Given the description of an element on the screen output the (x, y) to click on. 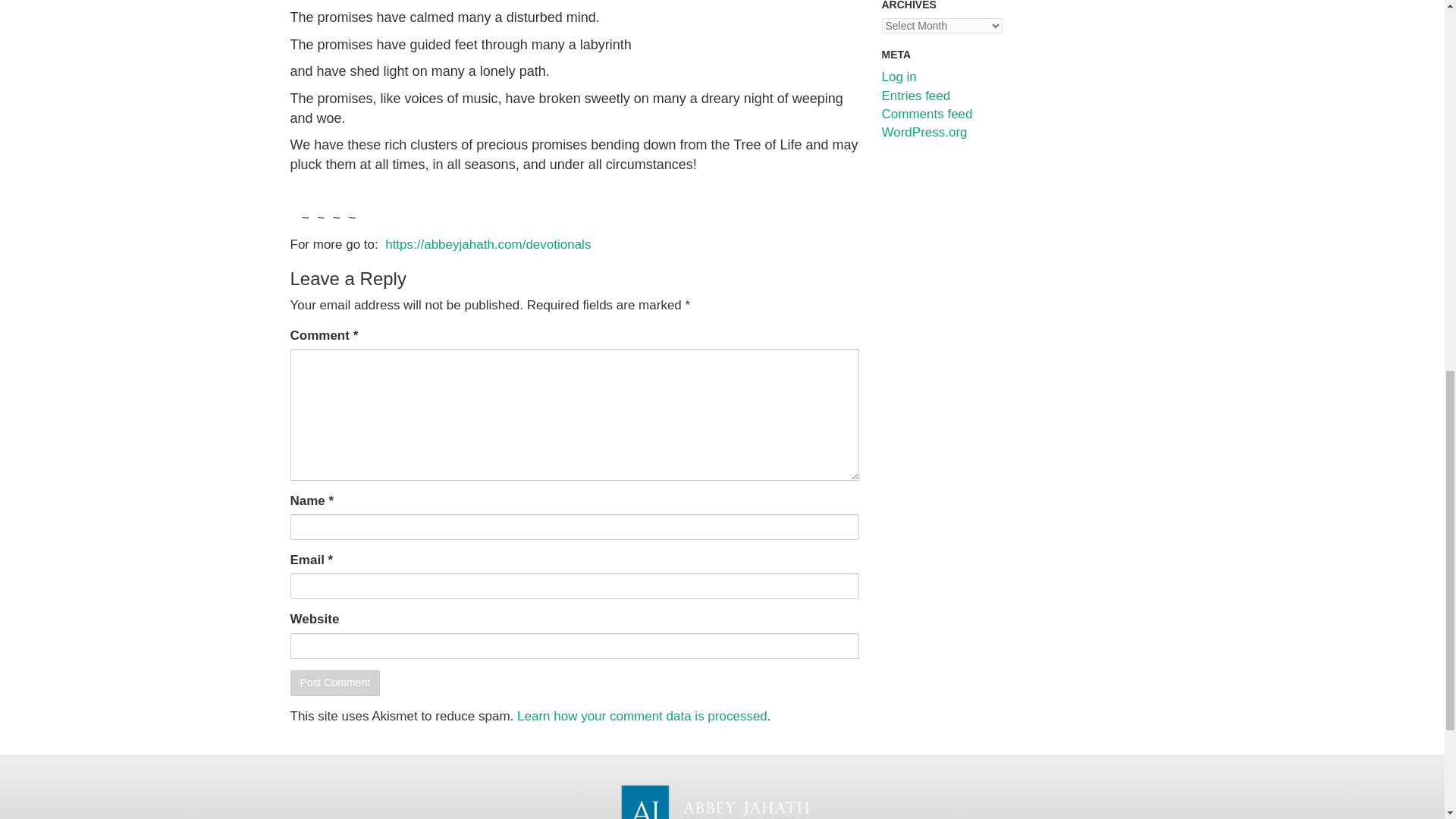
Learn how your comment data is processed (641, 716)
Post Comment (334, 683)
Post Comment (334, 683)
